Given the description of an element on the screen output the (x, y) to click on. 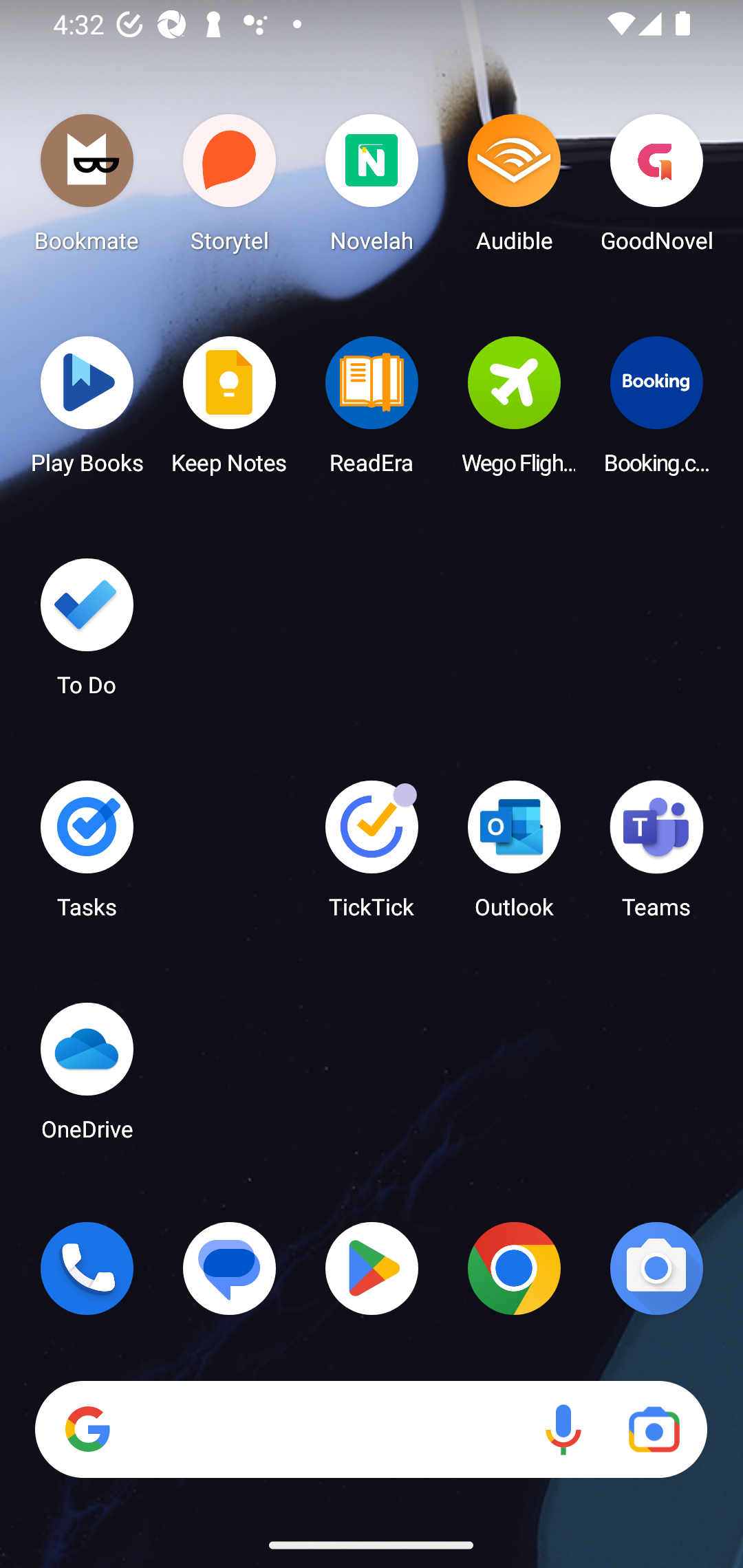
Bookmate (86, 188)
Storytel (229, 188)
Novelah (371, 188)
Audible (513, 188)
GoodNovel (656, 188)
Play Books (86, 410)
Keep Notes (229, 410)
ReadEra (371, 410)
Wego Flights & Hotels (513, 410)
Booking.com (656, 410)
To Do (86, 633)
Tasks (86, 854)
TickTick TickTick has 3 notifications (371, 854)
Outlook (513, 854)
Teams (656, 854)
OneDrive (86, 1076)
Phone (86, 1268)
Messages (229, 1268)
Play Store (371, 1268)
Chrome (513, 1268)
Camera (656, 1268)
Voice search (562, 1429)
Google Lens (653, 1429)
